Given the description of an element on the screen output the (x, y) to click on. 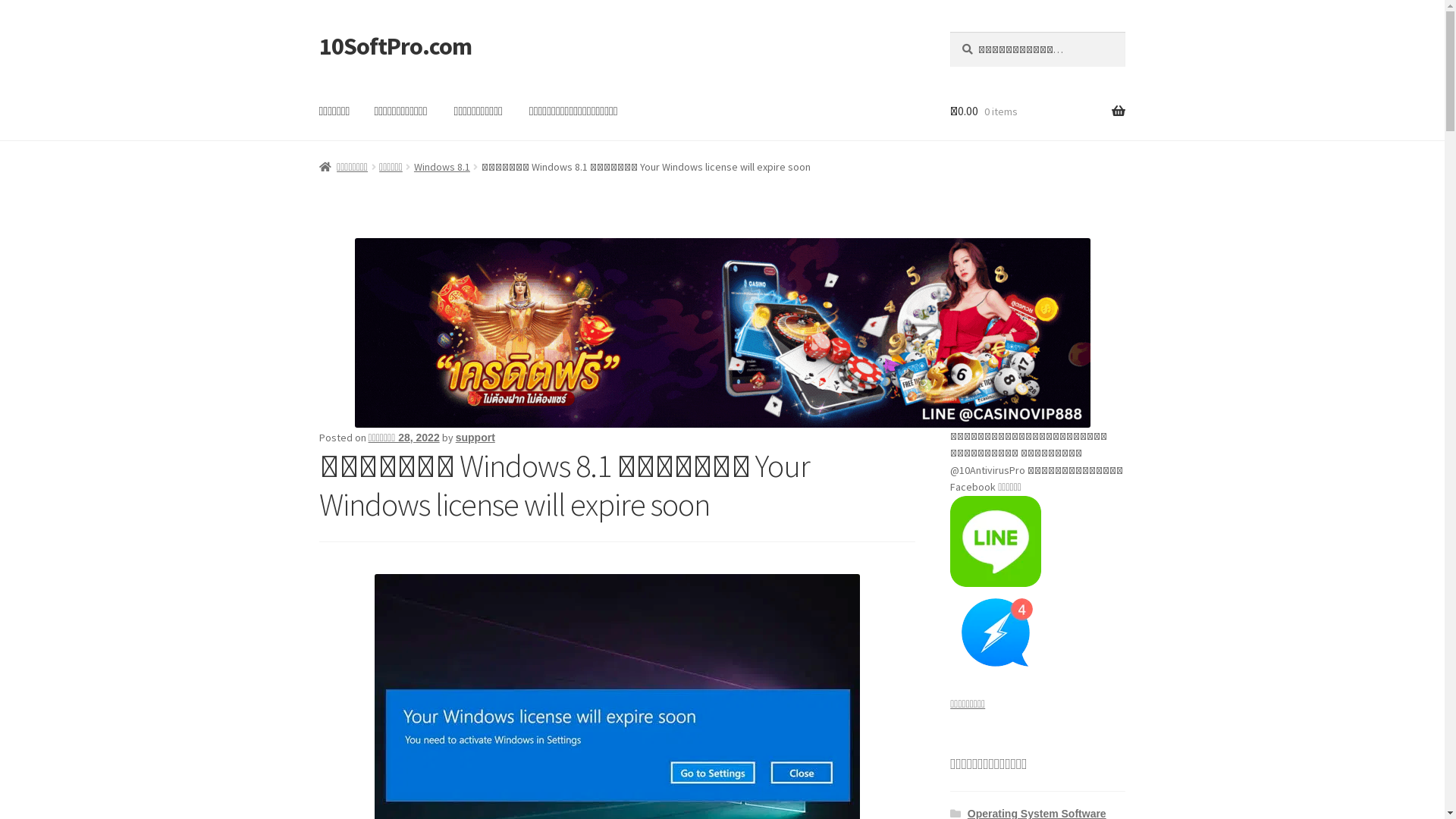
Windows 8.1 Element type: text (442, 166)
Skip to navigation Element type: text (318, 31)
10SoftPro.com Element type: text (395, 46)
support Element type: text (475, 437)
